Given the description of an element on the screen output the (x, y) to click on. 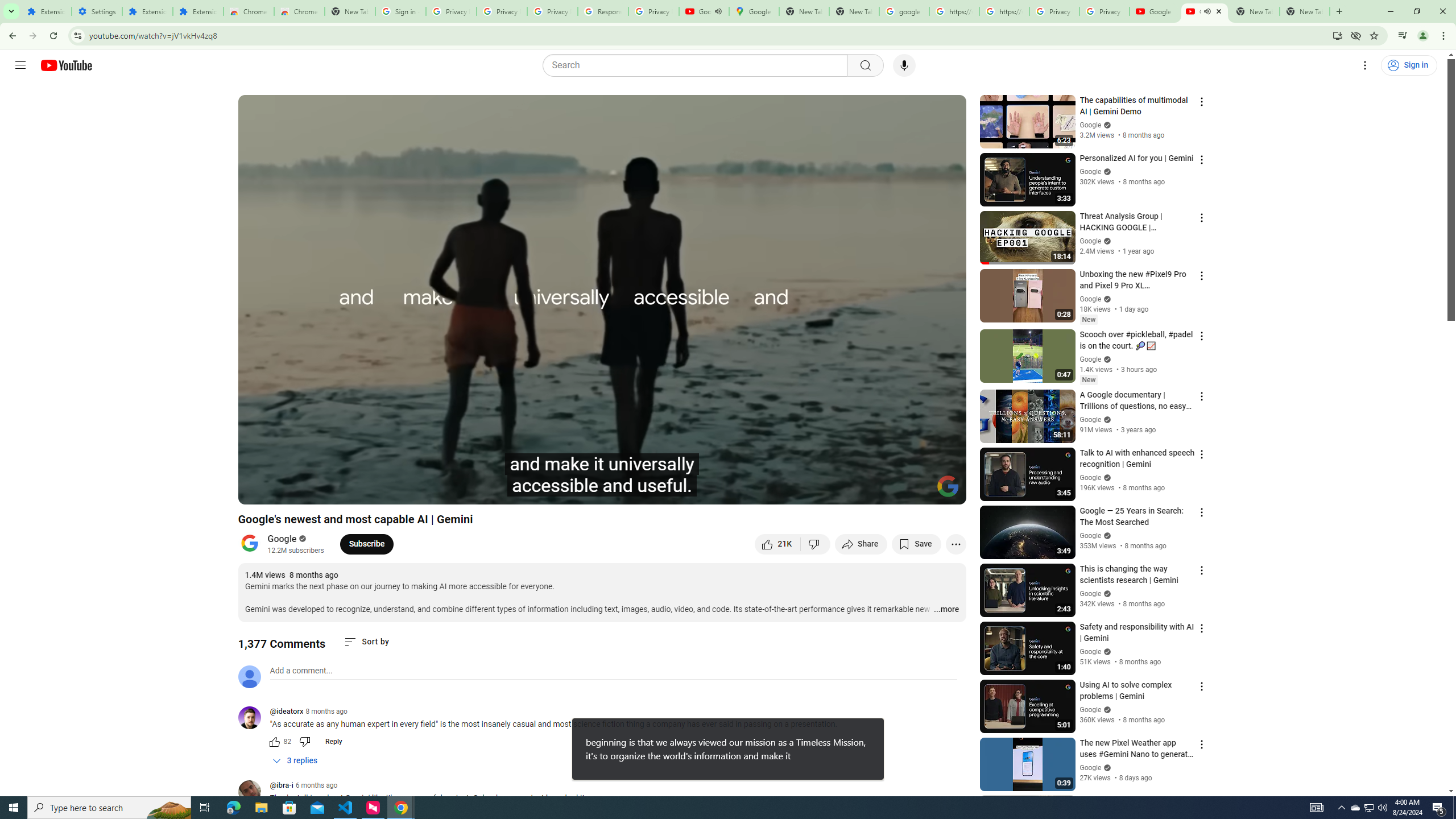
View site information (77, 35)
Share (861, 543)
8 months ago (326, 710)
Search with your voice (903, 65)
Sort comments (366, 641)
New (1087, 379)
More actions (955, 543)
Chrome Web Store (248, 11)
Mute (m) (312, 490)
Control your music, videos, and more (1402, 35)
https://scholar.google.com/ (954, 11)
Subscribe to Google. (366, 543)
